Given the description of an element on the screen output the (x, y) to click on. 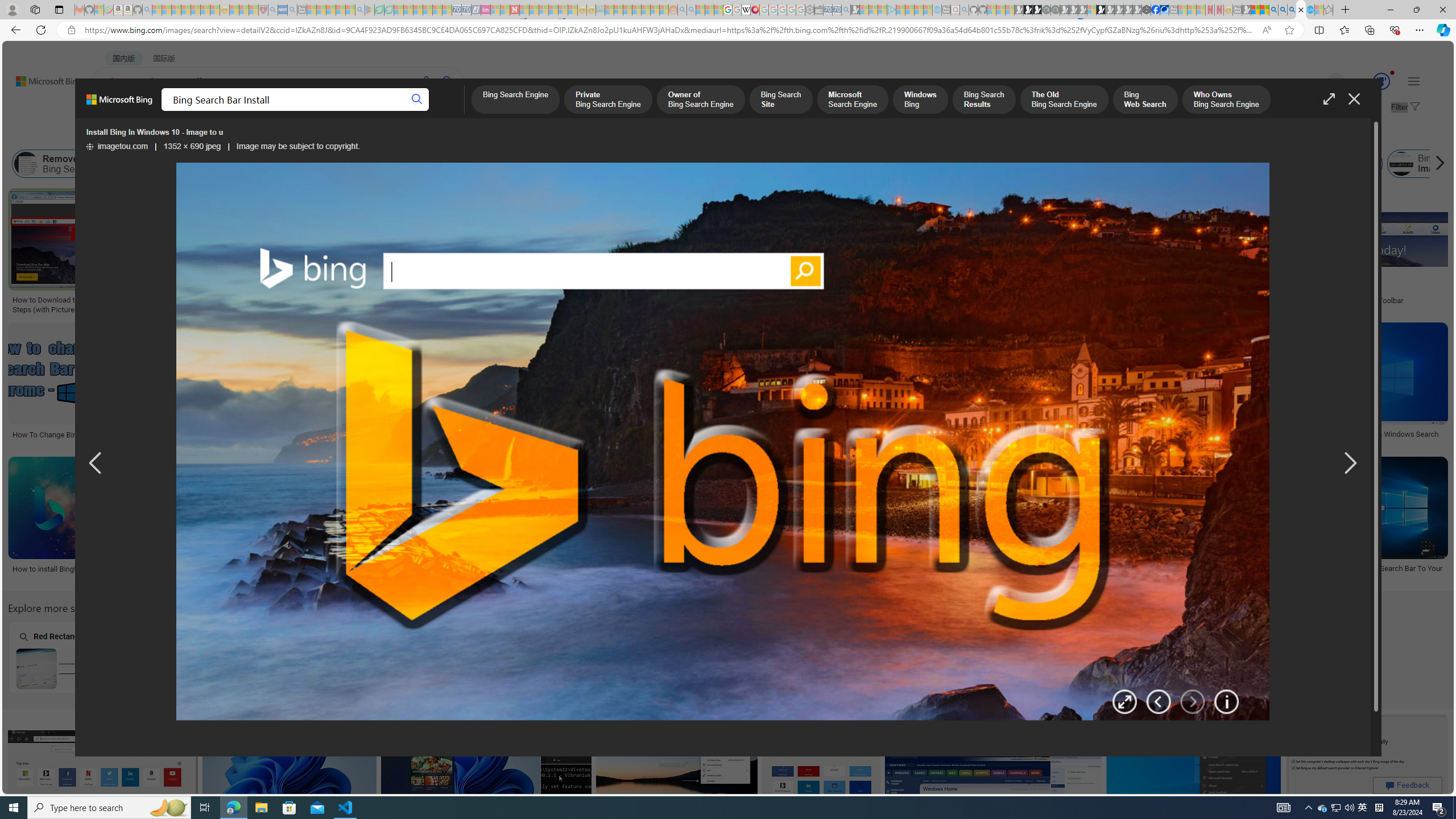
Bing Stickers (704, 296)
